Given the description of an element on the screen output the (x, y) to click on. 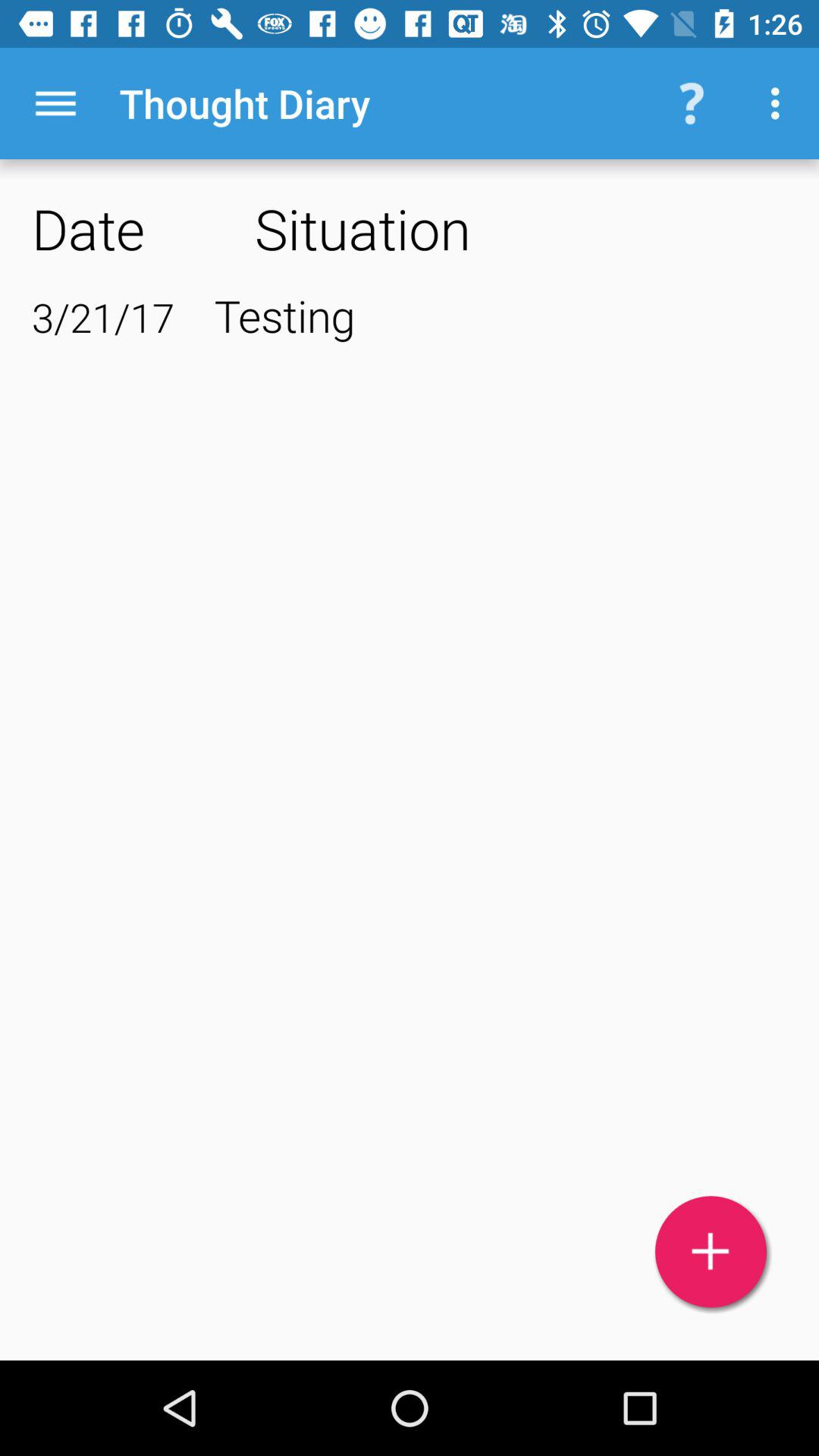
choose the icon below the testing icon (710, 1251)
